Given the description of an element on the screen output the (x, y) to click on. 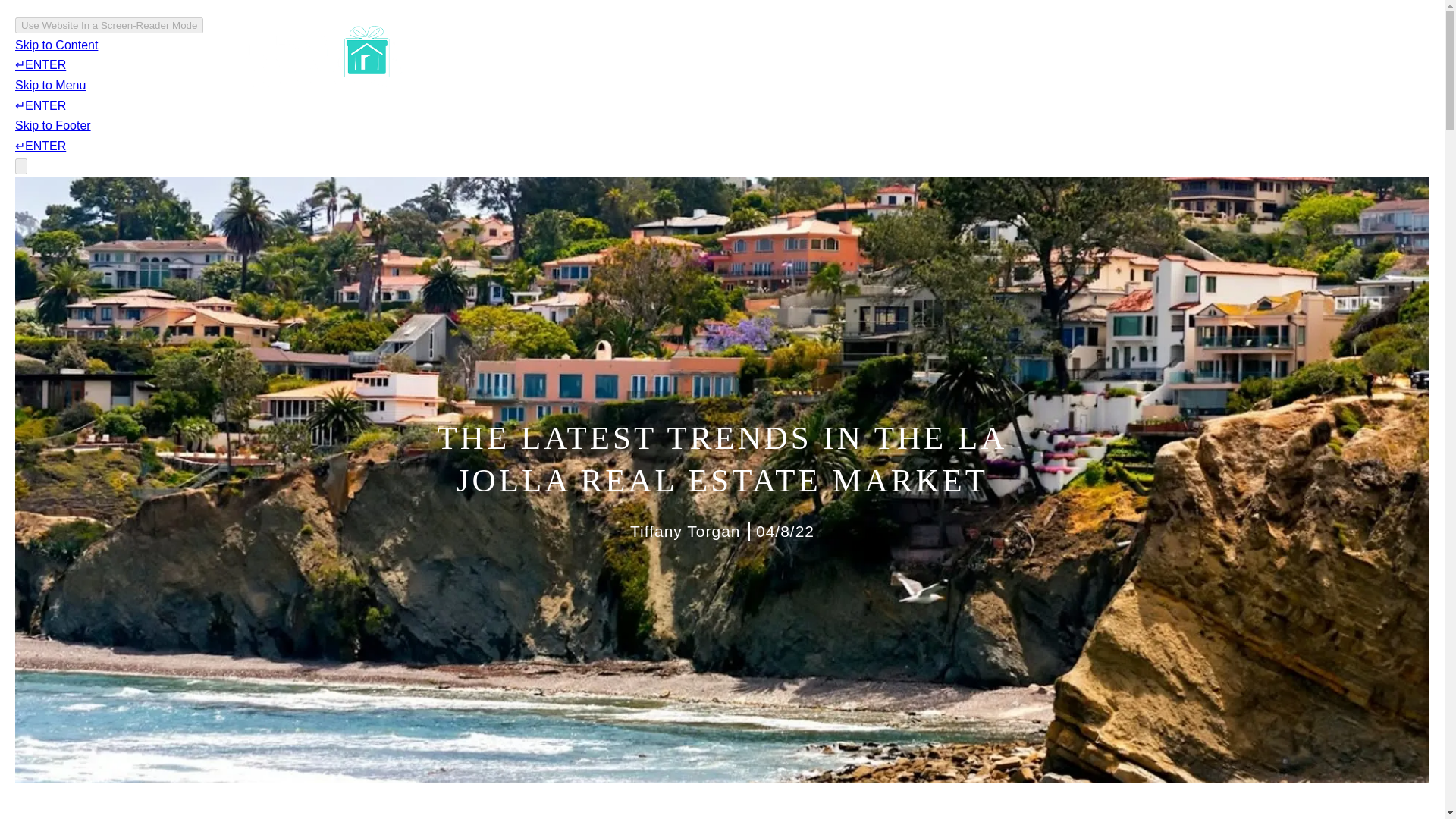
FEATURED PROPERTIES (708, 55)
HOME SEARCH (842, 55)
LET'S CONNECT (952, 55)
